Given the description of an element on the screen output the (x, y) to click on. 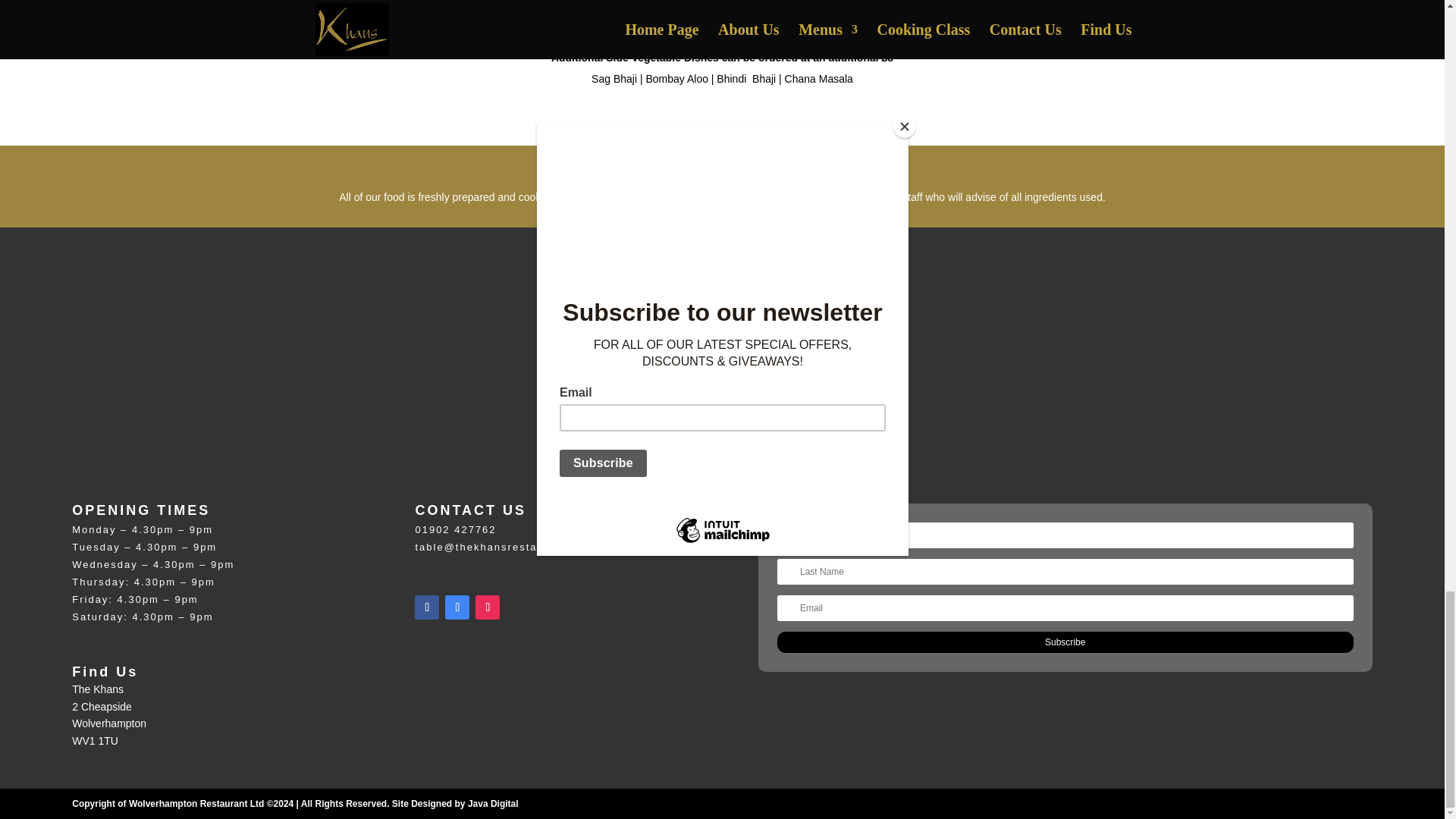
Follow on Facebook (426, 607)
Follow on Google (456, 607)
Follow on Instagram (487, 607)
Subscribe (1065, 641)
